Given the description of an element on the screen output the (x, y) to click on. 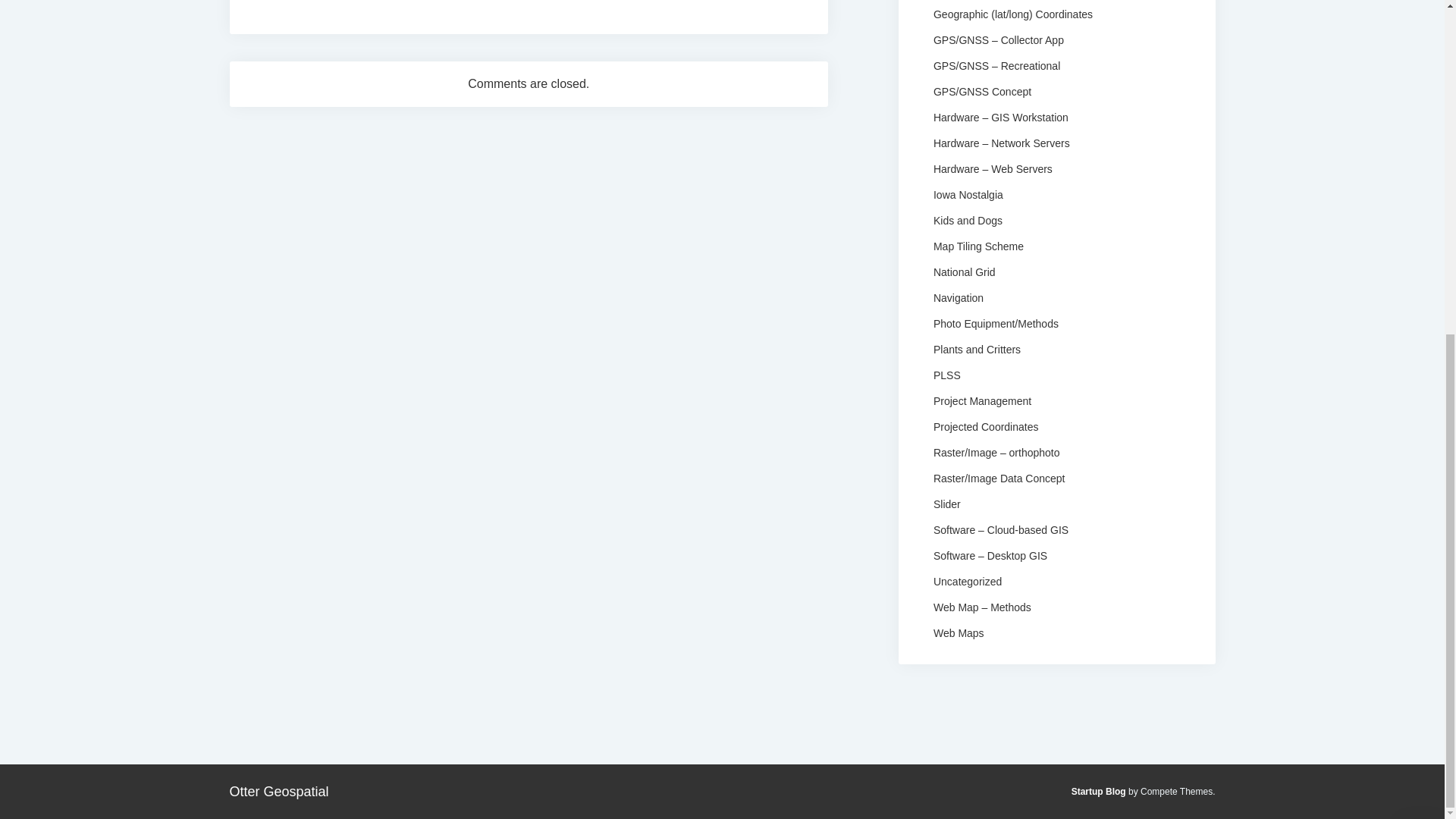
Plants and Critters (976, 348)
Kids and Dogs (968, 219)
PLSS (946, 374)
Iowa Nostalgia (968, 193)
Map Tiling Scheme (978, 245)
National Grid (964, 271)
Project Management (981, 399)
Projected Coordinates (986, 426)
Navigation (958, 297)
